Given the description of an element on the screen output the (x, y) to click on. 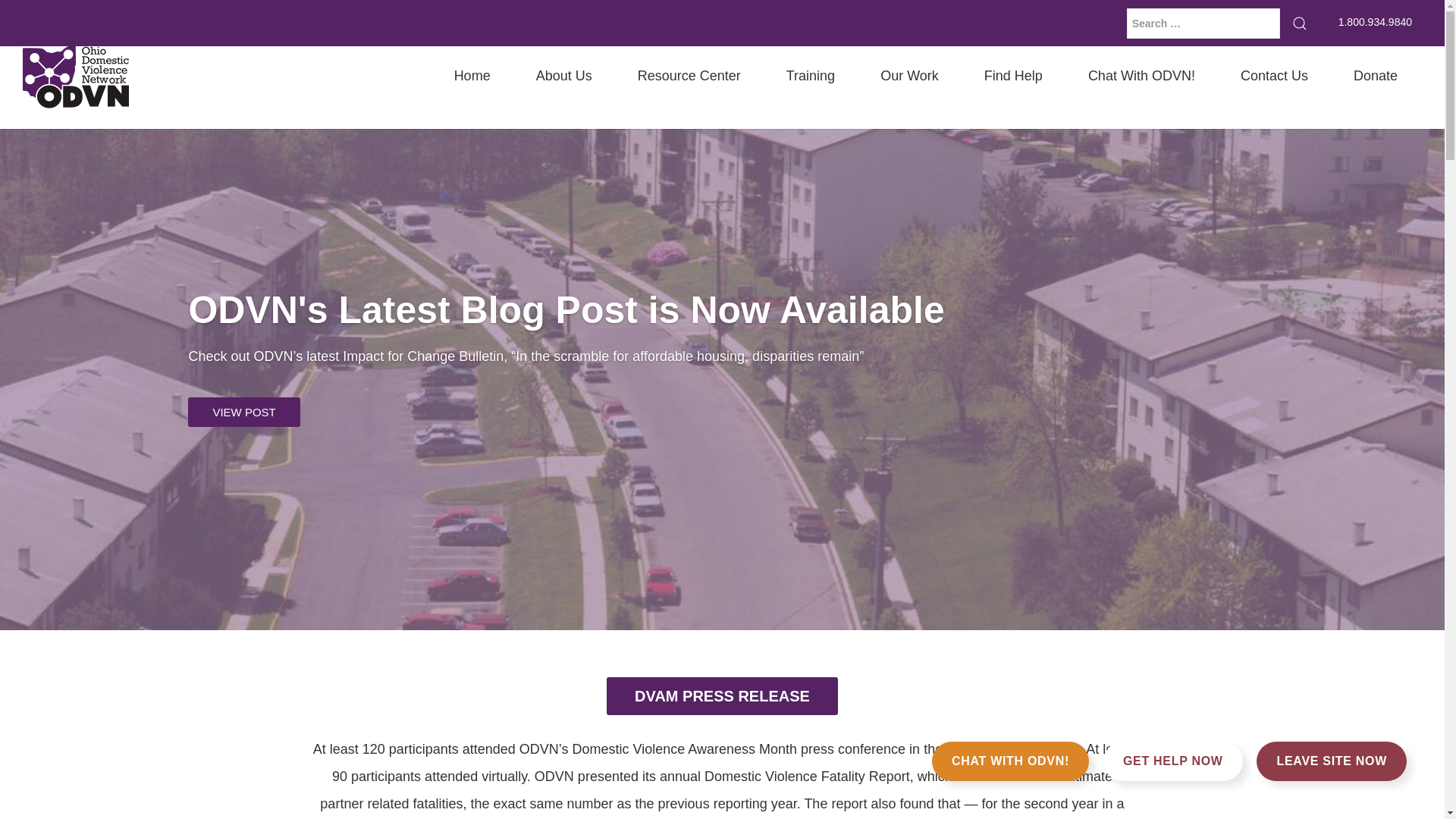
Our Work (908, 75)
About Us (563, 75)
Submit search (1299, 22)
Chat With ODVN! (1141, 75)
VIEW POST (243, 412)
Contact Us (1273, 75)
Find Help (1012, 75)
Resource Center (688, 75)
ODVN's Latest Blog Post is Now Available (565, 311)
